Given the description of an element on the screen output the (x, y) to click on. 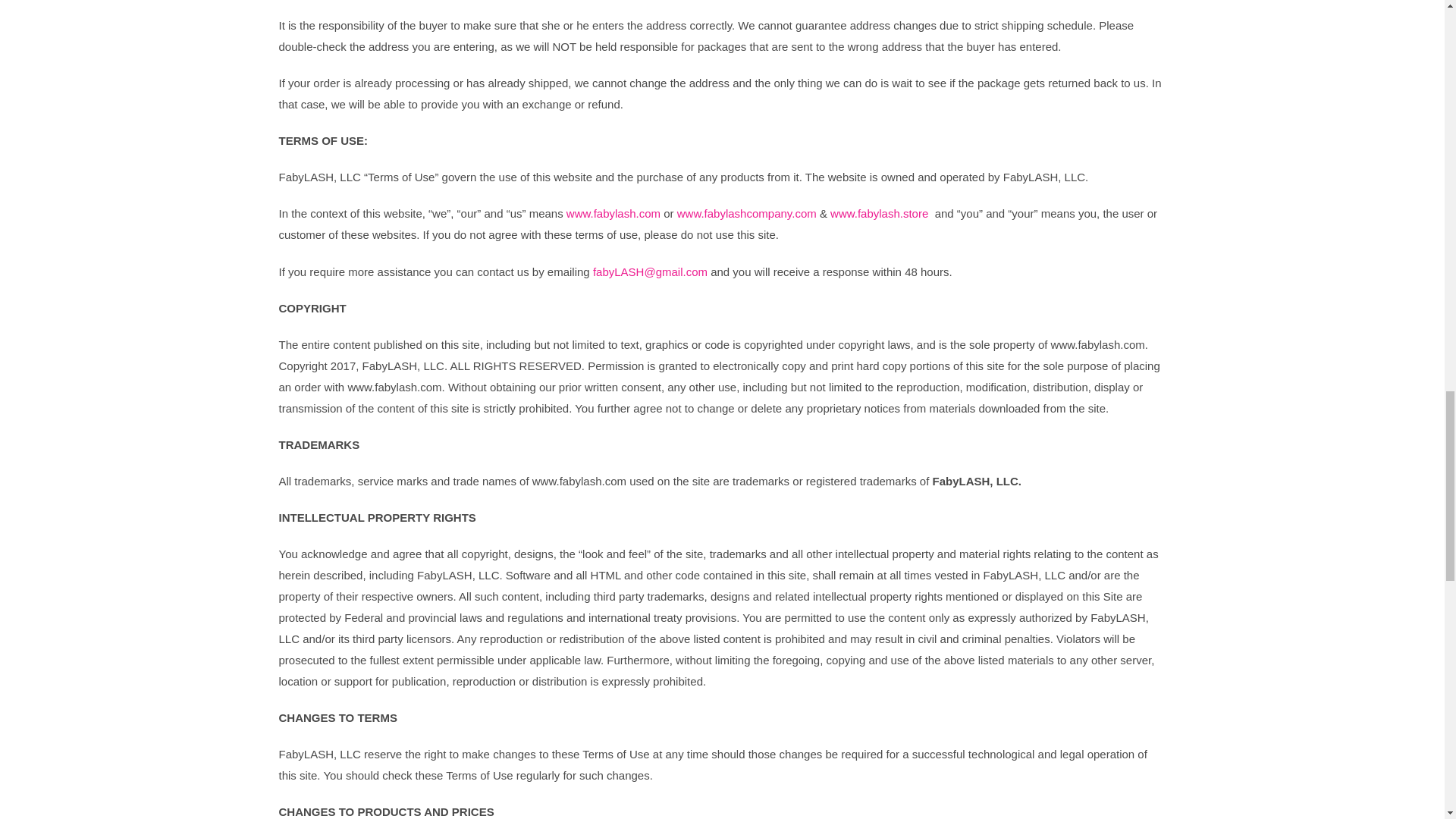
www.fabylashcompany.com (746, 213)
www.fabylash.store (878, 213)
www.fabylash.com (613, 213)
